Given the description of an element on the screen output the (x, y) to click on. 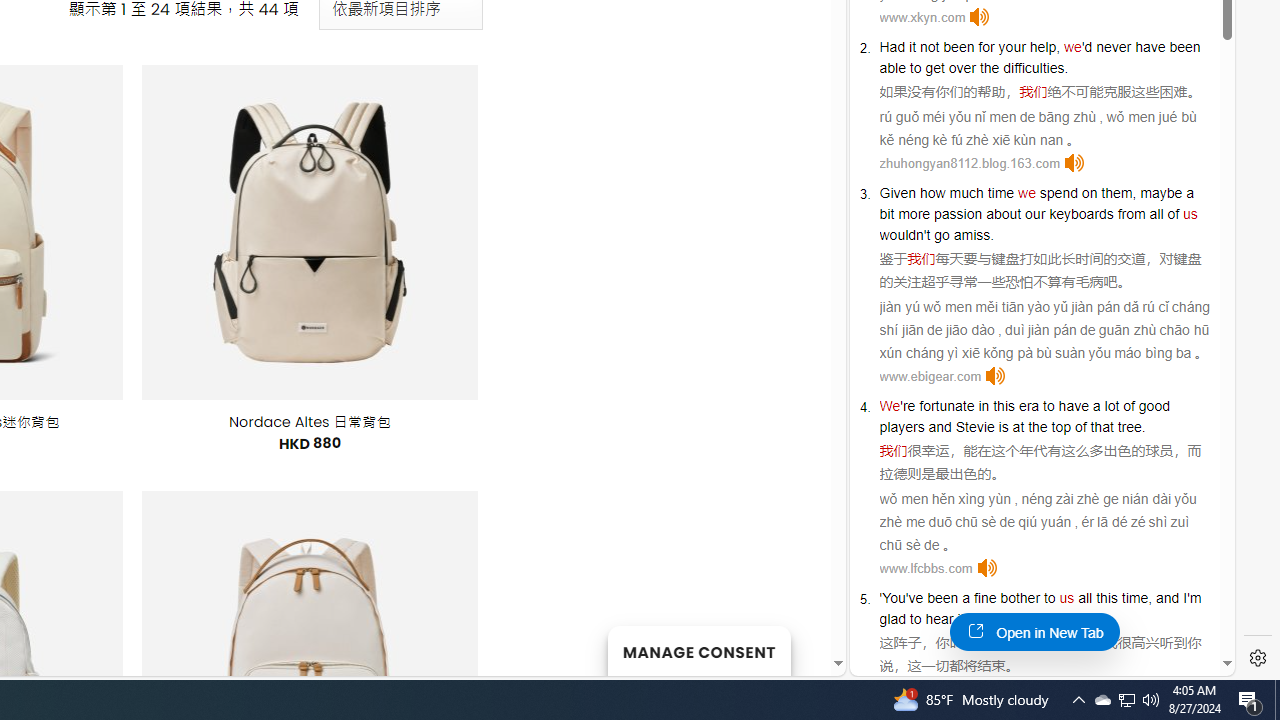
www.lfcbbs.com (925, 568)
good (1153, 405)
your (1012, 46)
not (929, 46)
spend (1058, 192)
